Given the description of an element on the screen output the (x, y) to click on. 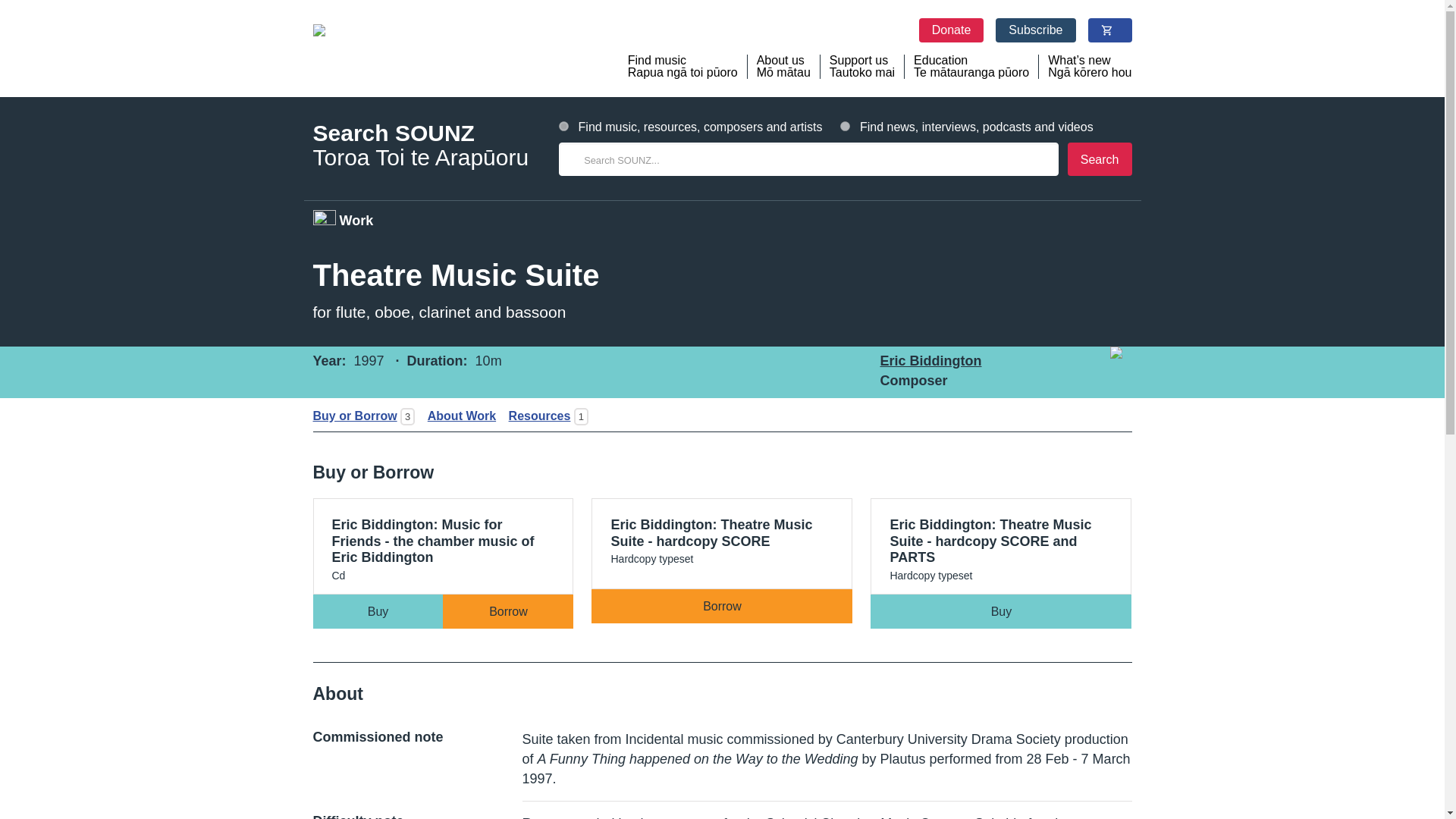
Subscribe (1035, 30)
Share to Facebook (1067, 413)
Share to Twitter (1091, 413)
About Work (457, 415)
Borrow (721, 605)
Share to Email (1115, 413)
Resources (534, 415)
catalogue (564, 126)
Buy (1000, 611)
